Given the description of an element on the screen output the (x, y) to click on. 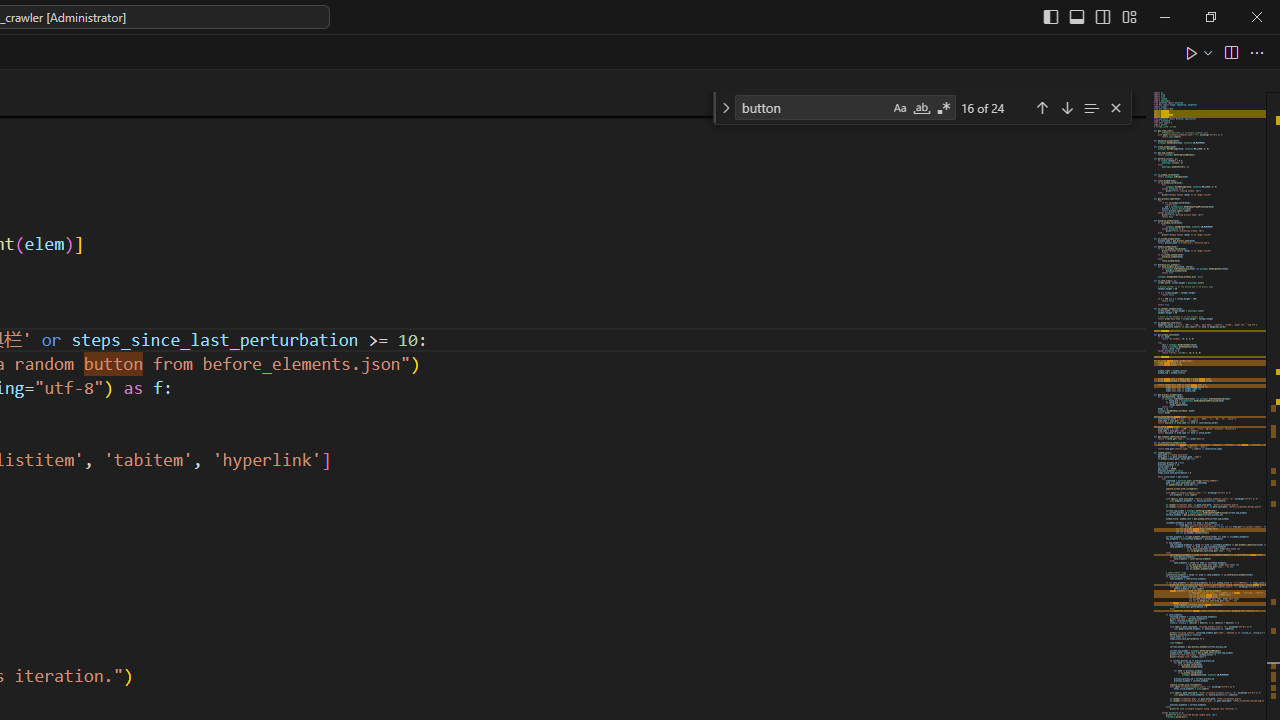
Previous Match (Shift+Enter) (1041, 106)
Split Editor Right (Ctrl+\) [Alt] Split Editor Down (1230, 52)
Run Python File (1192, 52)
Next Match (Enter) (1066, 106)
Toggle Panel (Ctrl+J) (1077, 16)
Find (812, 106)
Use Regular Expression (Alt+R) (943, 107)
